Given the description of an element on the screen output the (x, y) to click on. 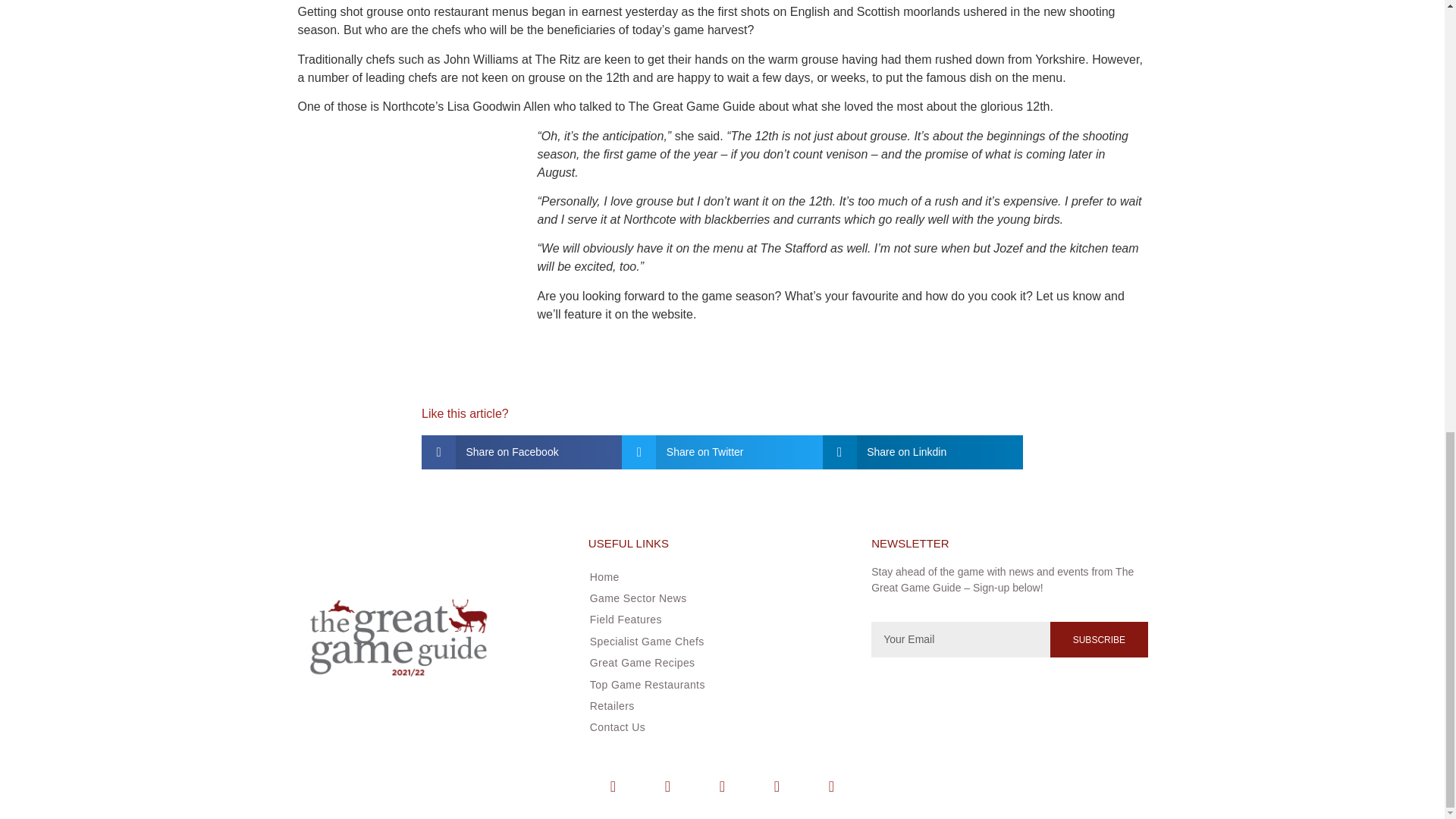
Home (715, 576)
Game Sector News (715, 597)
